Given the description of an element on the screen output the (x, y) to click on. 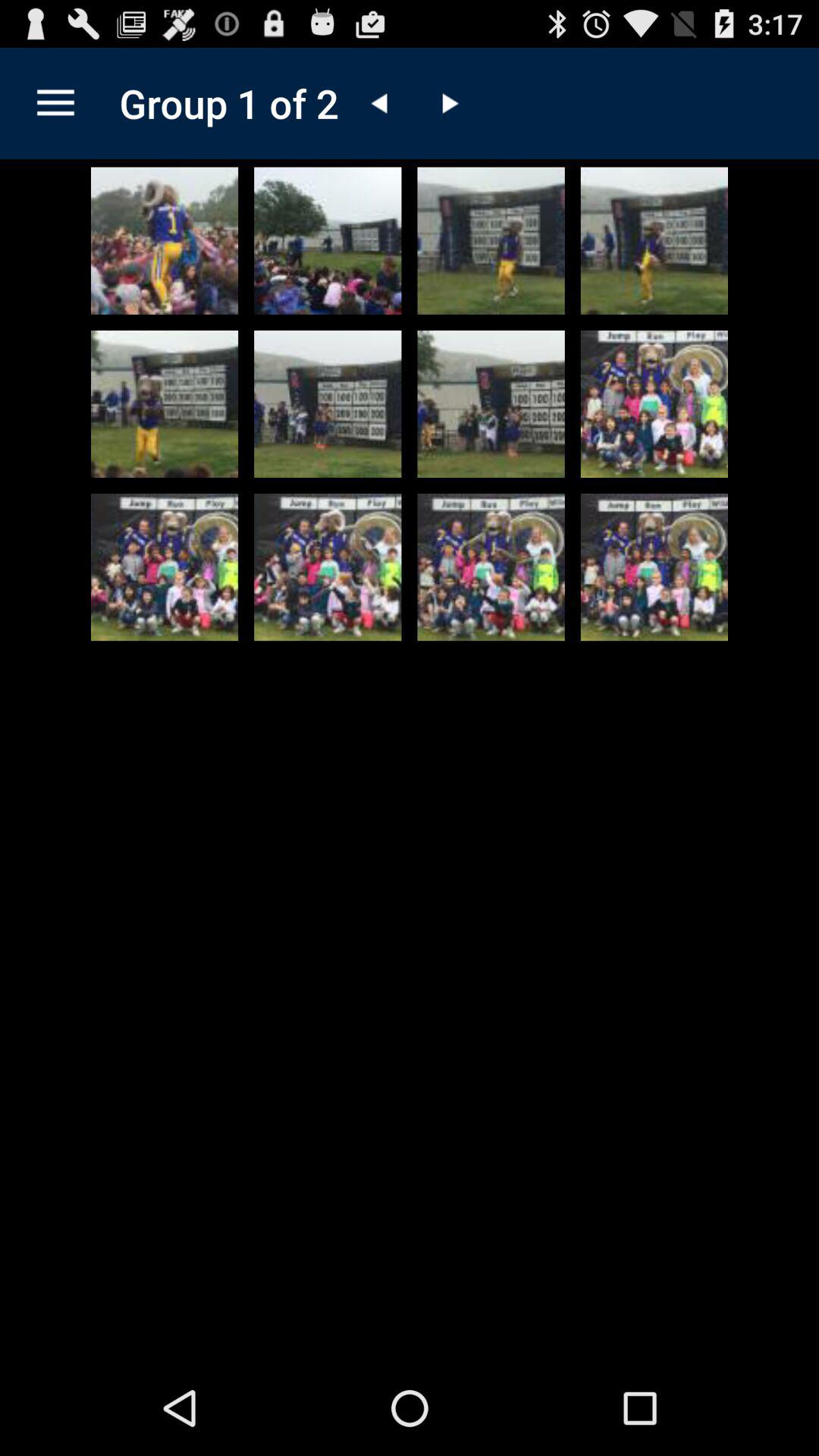
expand picture (164, 566)
